Given the description of an element on the screen output the (x, y) to click on. 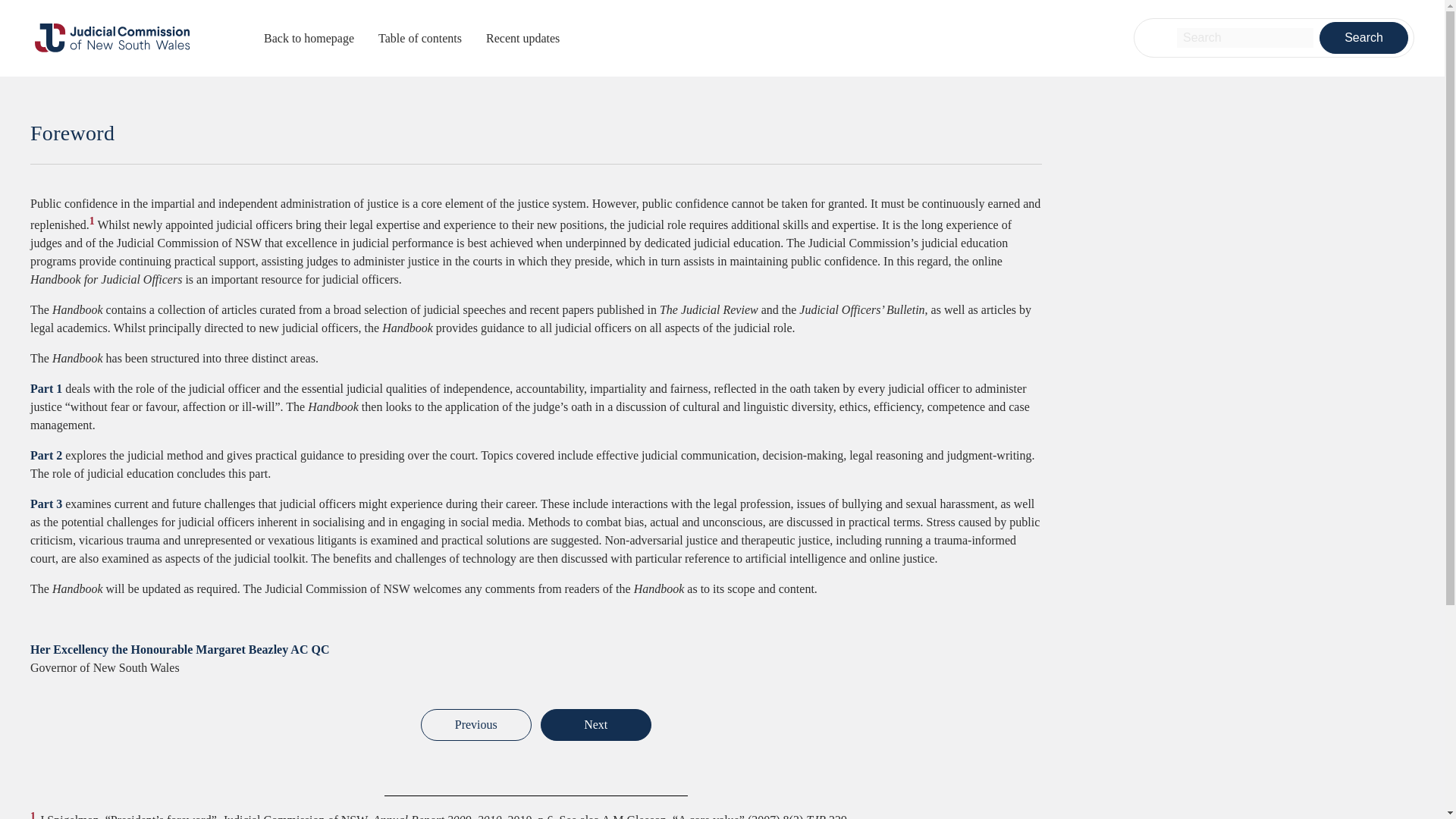
Back to homepage (308, 38)
Table of contents (419, 38)
Search (1363, 38)
Search (1363, 38)
Next (595, 725)
Recent updates (522, 38)
International Award (595, 725)
Previous (475, 725)
Search (1363, 38)
1 (34, 816)
